Given the description of an element on the screen output the (x, y) to click on. 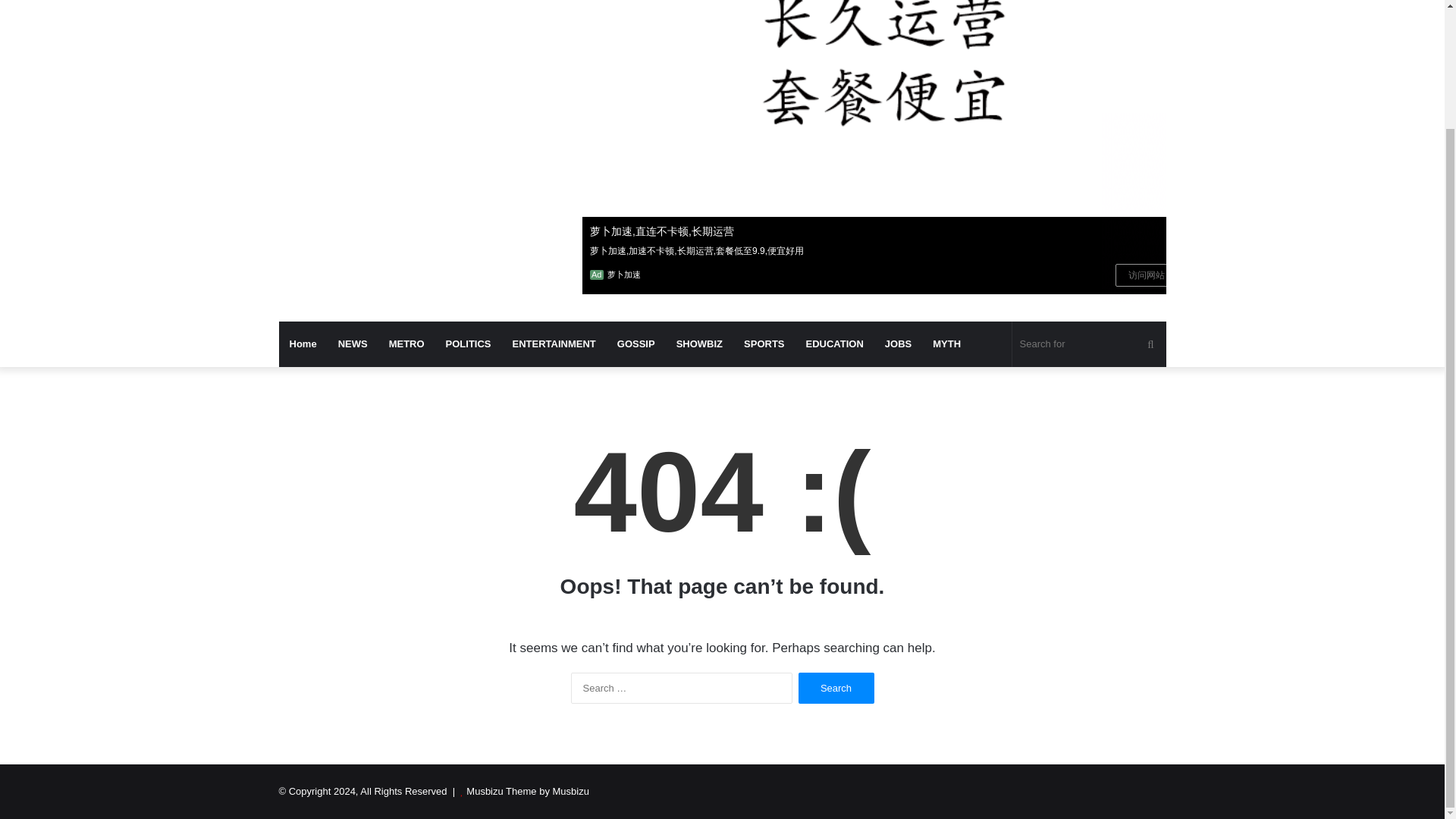
Search (835, 687)
GOSSIP (636, 343)
NEWS (352, 343)
Musbizu (419, 4)
METRO (406, 343)
SHOWBIZ (699, 343)
JOBS (898, 343)
Search (835, 687)
Musbizu Theme by Musbizu (527, 790)
Search (835, 687)
Home (303, 343)
ENTERTAINMENT (554, 343)
EDUCATION (834, 343)
POLITICS (468, 343)
Search for (1088, 343)
